Given the description of an element on the screen output the (x, y) to click on. 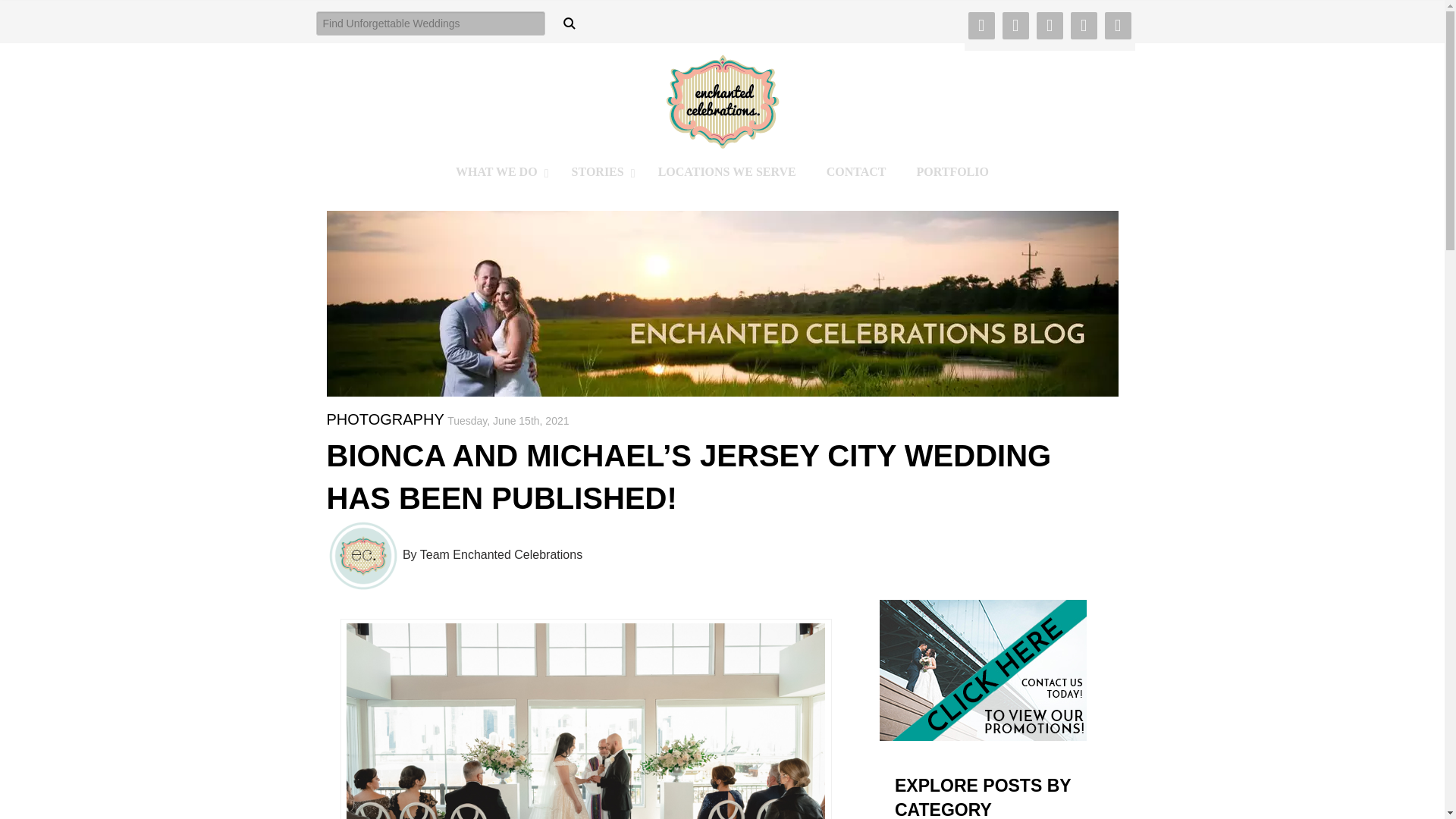
Enchanted Celebrations (721, 171)
